Given the description of an element on the screen output the (x, y) to click on. 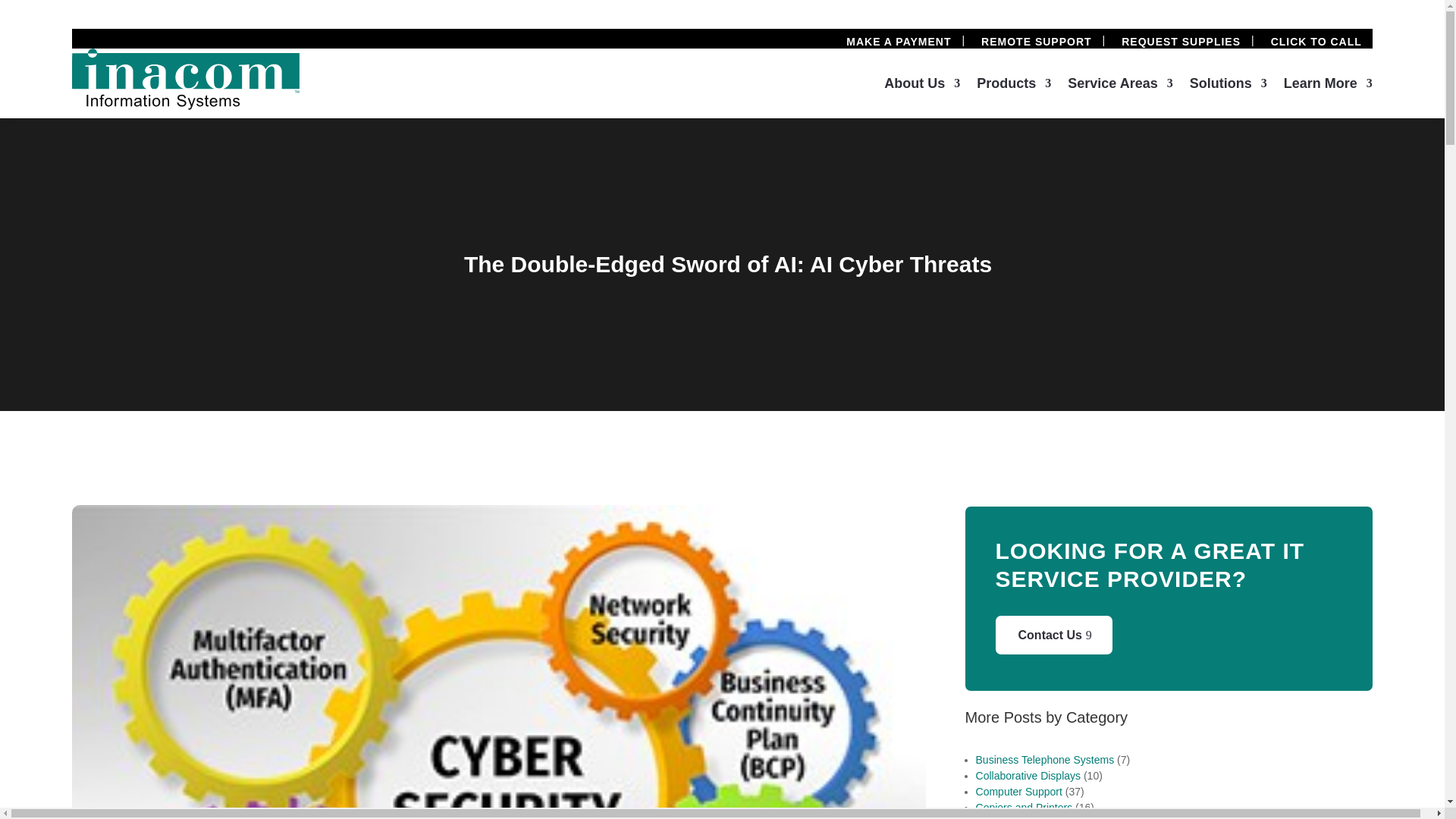
CLICK TO CALL (1316, 41)
REMOTE SUPPORT (1035, 41)
Learn More (1328, 86)
About Us (921, 86)
Solutions (1227, 86)
Products (1013, 86)
REQUEST SUPPLIES (1180, 41)
MAKE A PAYMENT (897, 41)
Service Areas (1119, 86)
